Given the description of an element on the screen output the (x, y) to click on. 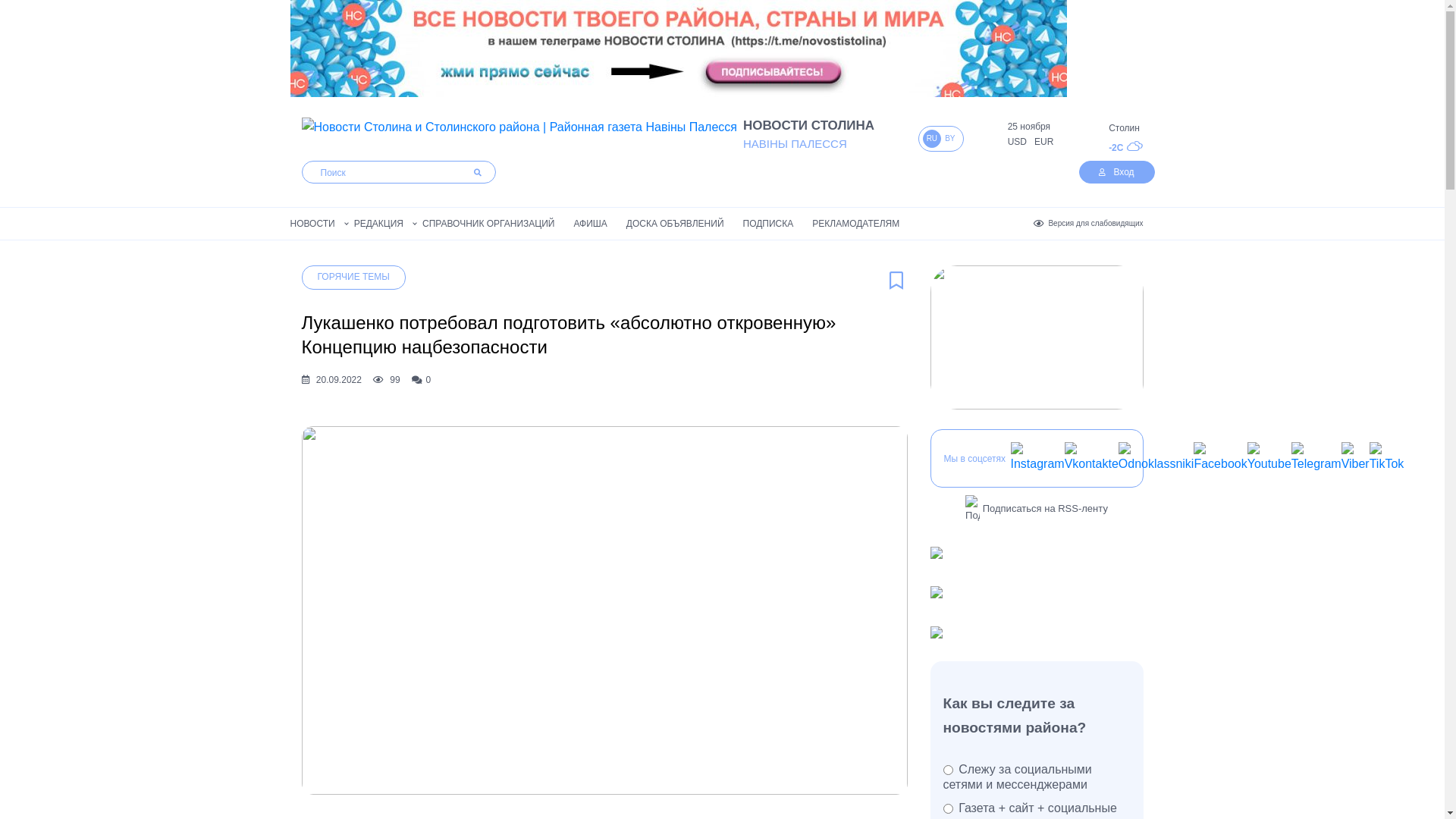
RU Element type: text (931, 138)
BY Element type: text (949, 138)
